Given the description of an element on the screen output the (x, y) to click on. 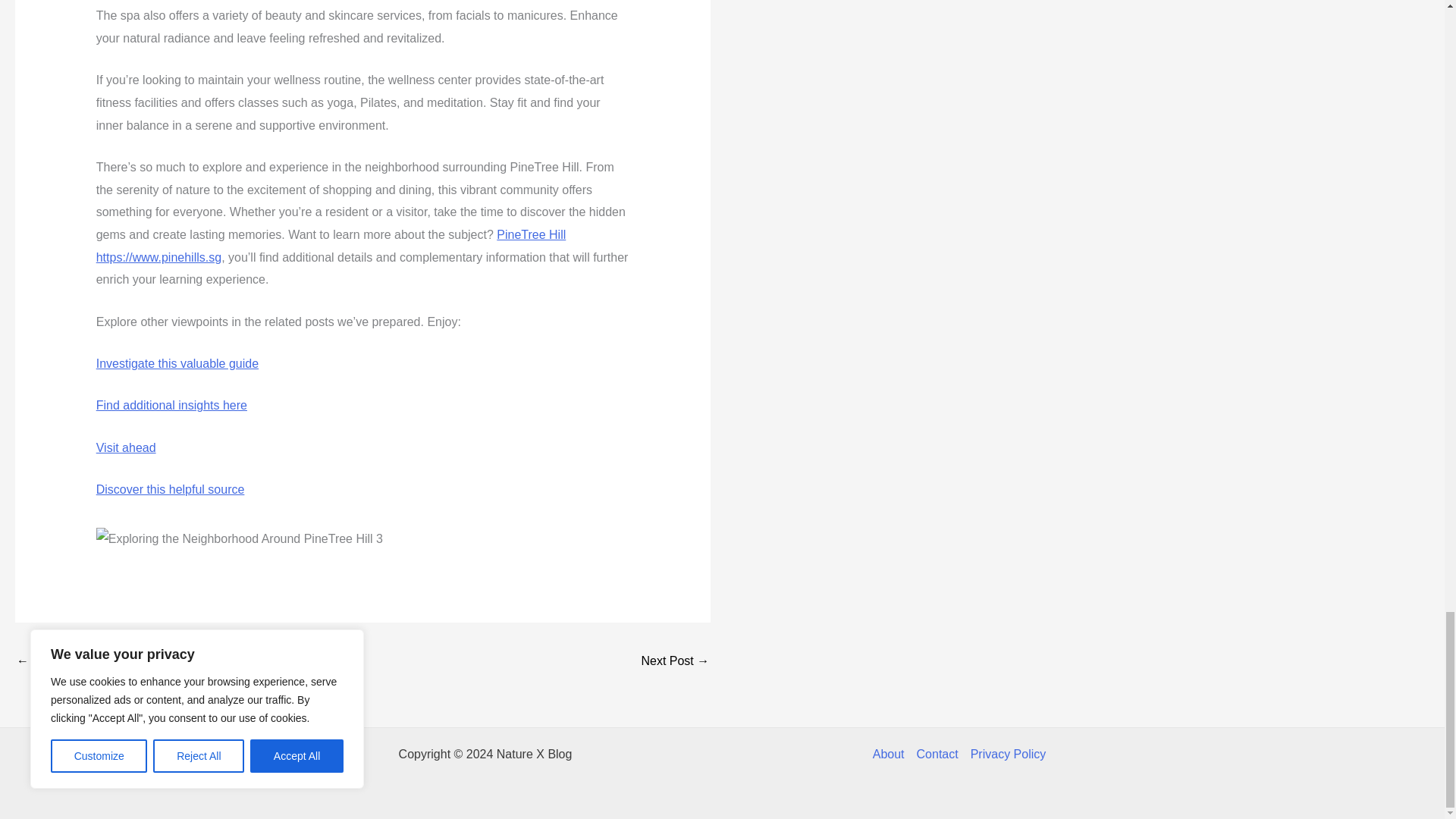
Investigate this valuable guide (177, 363)
Discover this helpful source (170, 489)
How to Make Nashville Hot Chicken at Home (61, 662)
The Importance of Chlorine Sensors in Wastewater Treatment (674, 662)
Visit ahead (125, 447)
Find additional insights here (171, 404)
